Given the description of an element on the screen output the (x, y) to click on. 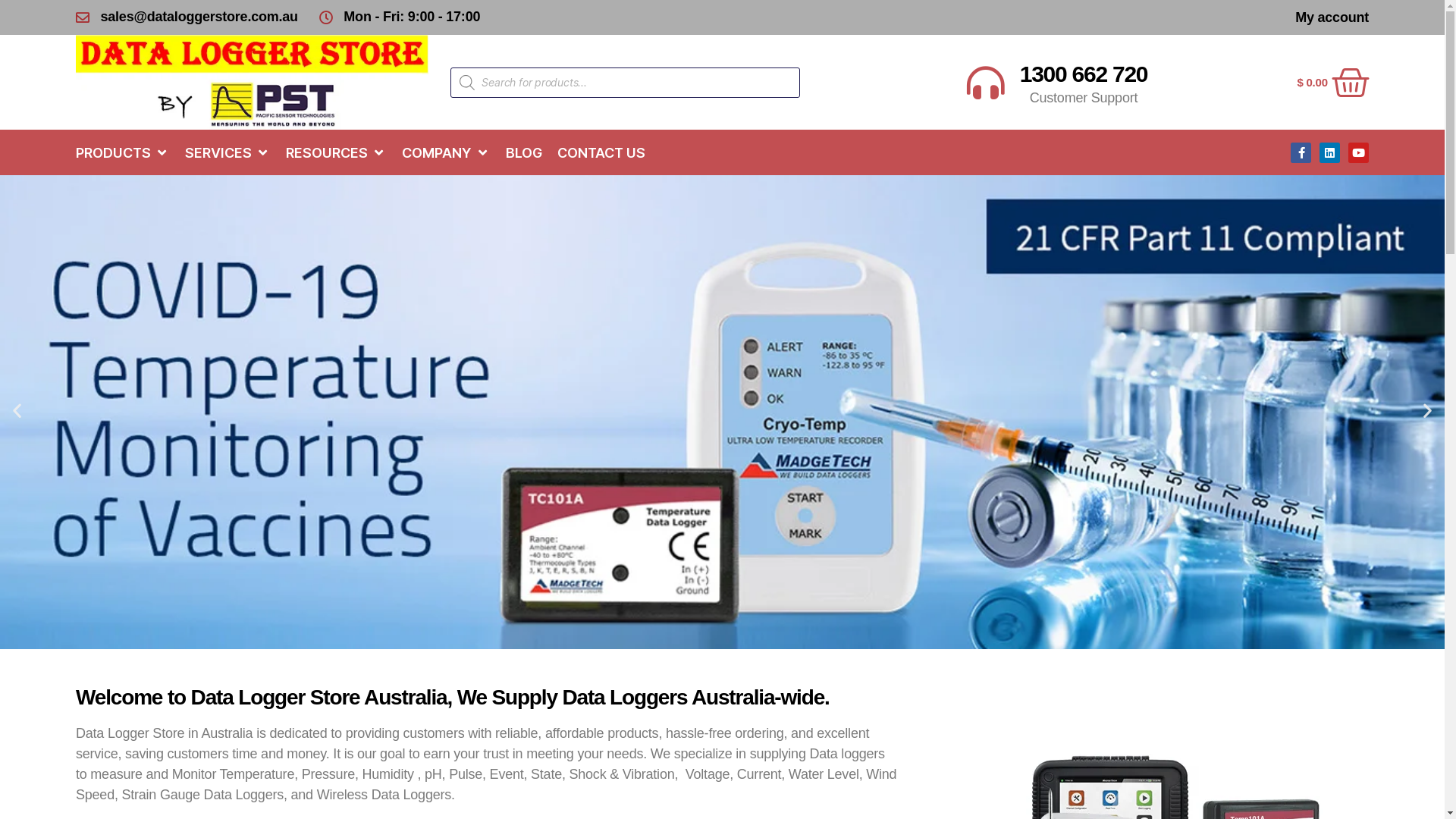
SERVICES Element type: text (220, 152)
sales@dataloggerstore.com.au Element type: text (186, 16)
CONTACT US Element type: text (601, 152)
RESOURCES Element type: text (327, 152)
$ 0.00 Element type: text (1332, 82)
BLOG Element type: text (523, 152)
PRODUCTS Element type: text (114, 152)
My account Element type: text (1331, 17)
1300 662 720 Element type: text (1083, 73)
COMPANY Element type: text (437, 152)
